Given the description of an element on the screen output the (x, y) to click on. 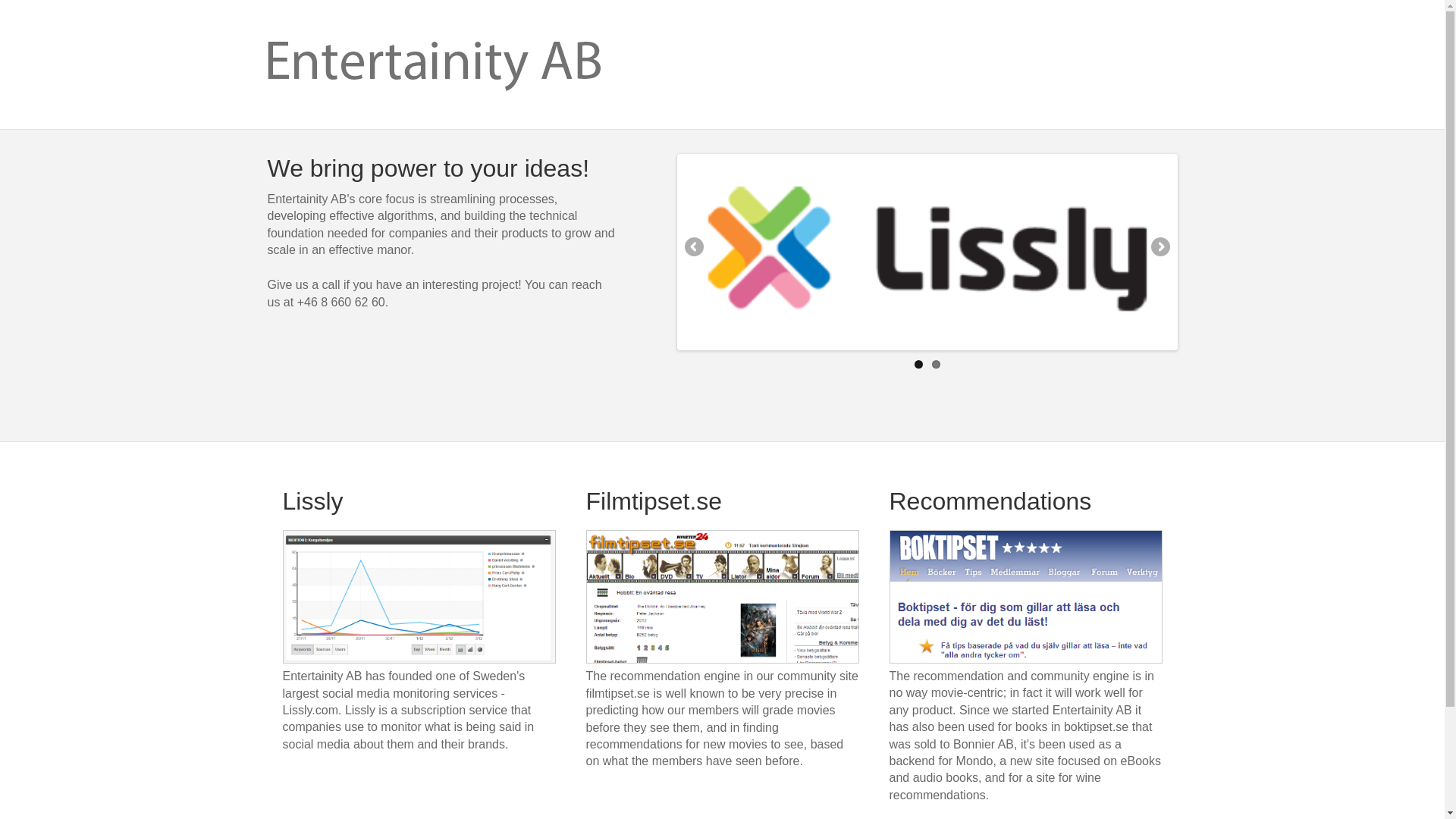
Next (1159, 247)
2 (935, 364)
Previous (695, 247)
1 (918, 364)
